Given the description of an element on the screen output the (x, y) to click on. 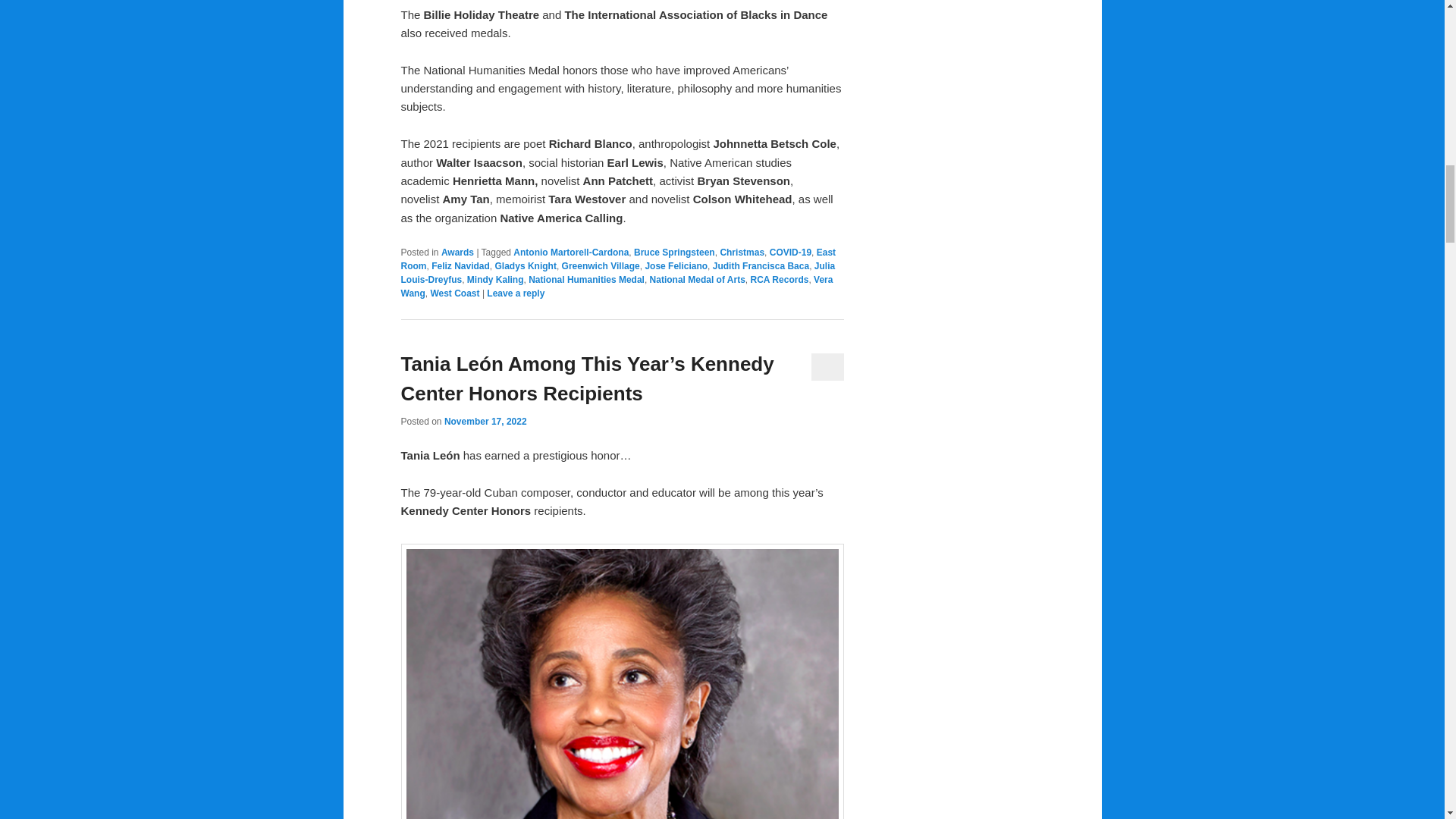
Antonio Martorell-Cardona (570, 252)
National Medal of Arts (697, 279)
Christmas (741, 252)
Feliz Navidad (459, 266)
COVID-19 (790, 252)
Jose Feliciano (676, 266)
5:30 pm (485, 421)
Leave a reply (515, 293)
Judith Francisca Baca (761, 266)
Vera Wang (616, 286)
